Given the description of an element on the screen output the (x, y) to click on. 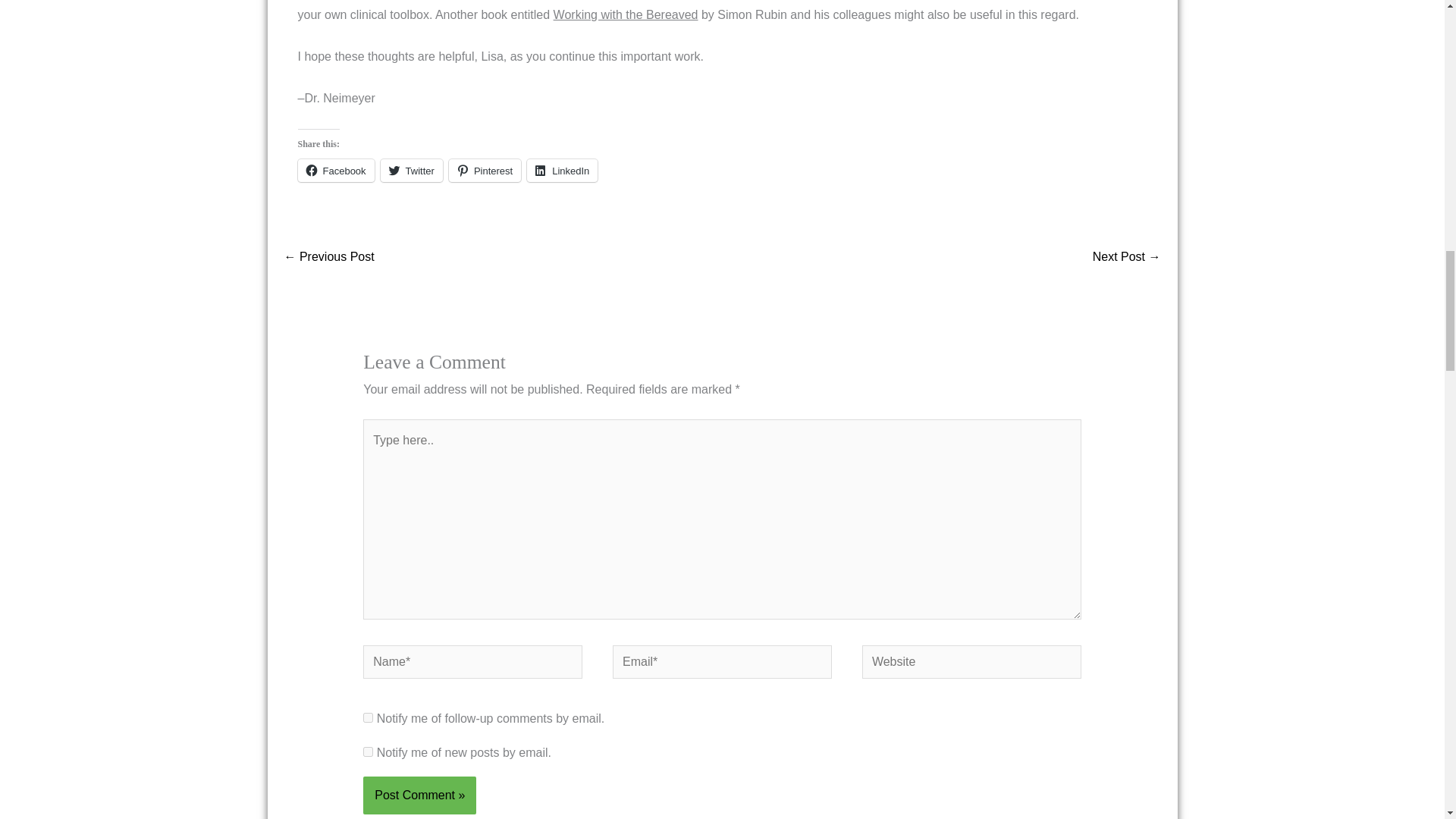
Click to share on Facebook (335, 169)
On the Pandemic: Ask Dr. Neimeyer 4.12.21 (328, 257)
Facebook (335, 169)
Click to share on Pinterest (484, 169)
subscribe (367, 717)
Click to share on LinkedIn (561, 169)
Twitter (411, 169)
Click to share on Twitter (411, 169)
LinkedIn (561, 169)
Pinterest (484, 169)
subscribe (367, 751)
